Given the description of an element on the screen output the (x, y) to click on. 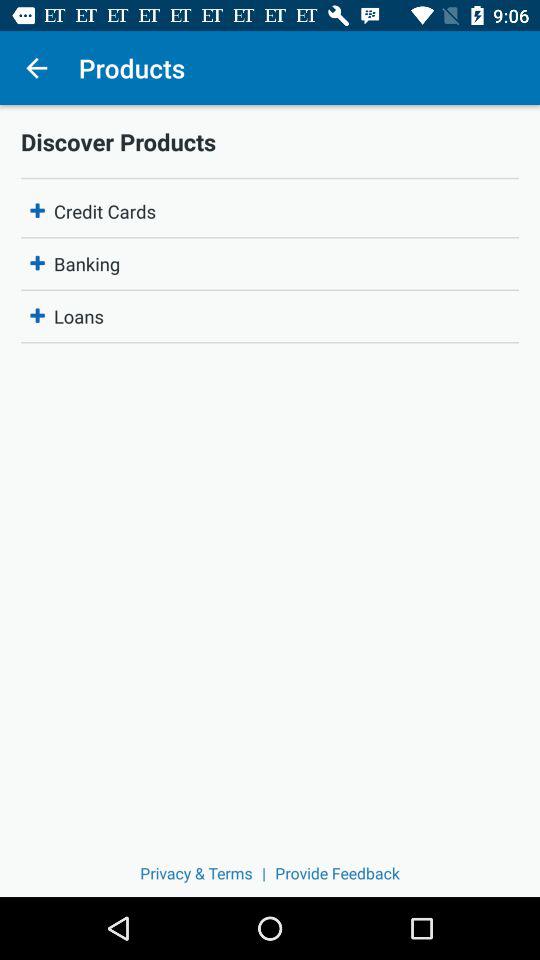
press the icon next to the | (337, 872)
